Given the description of an element on the screen output the (x, y) to click on. 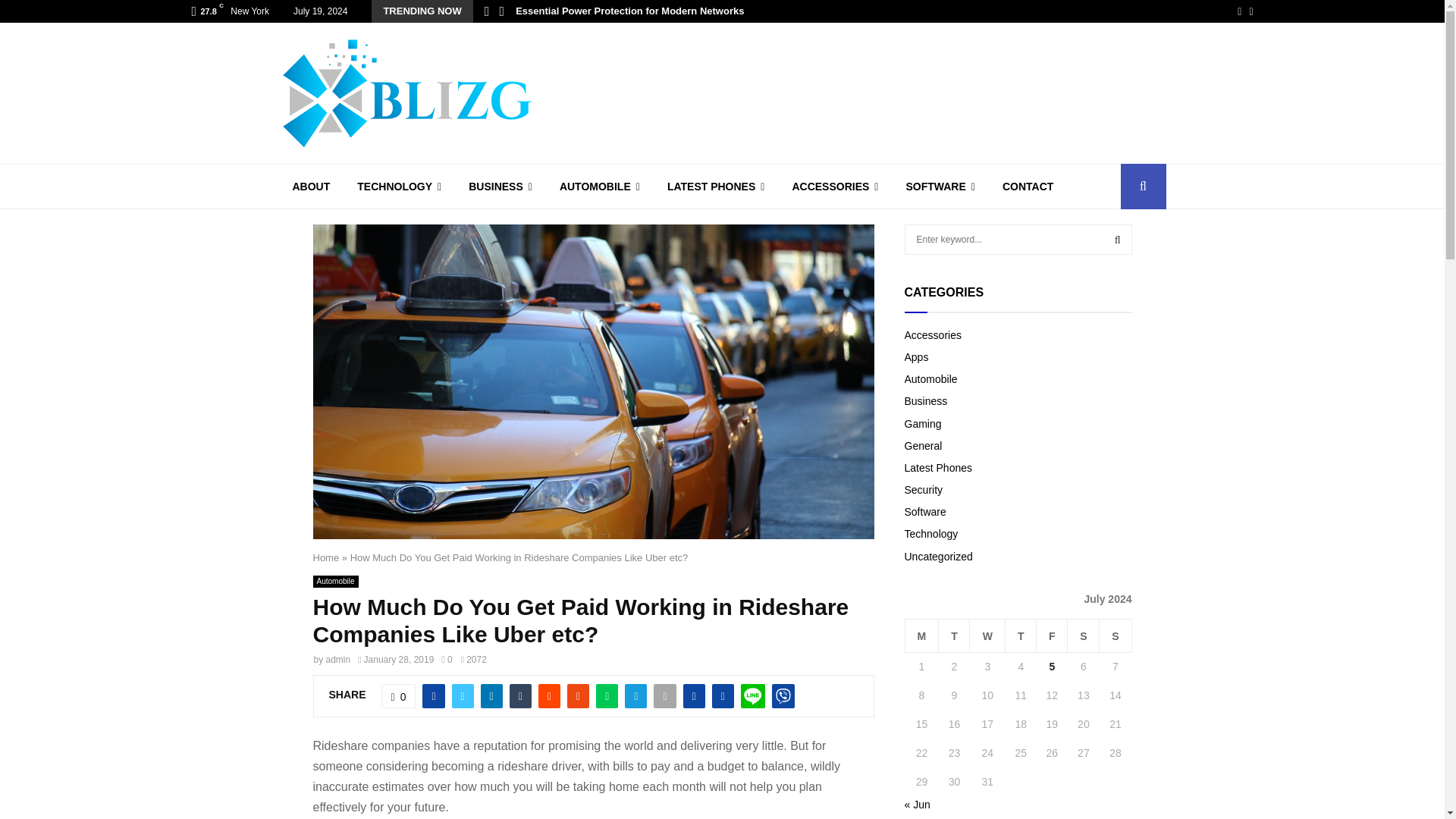
Essential Power Protection for Modern Networks (629, 10)
Facebook (1239, 11)
TECHNOLOGY (398, 186)
Twitter (1250, 11)
Twitter (1250, 11)
Facebook (1239, 11)
ABOUT (311, 186)
